Given the description of an element on the screen output the (x, y) to click on. 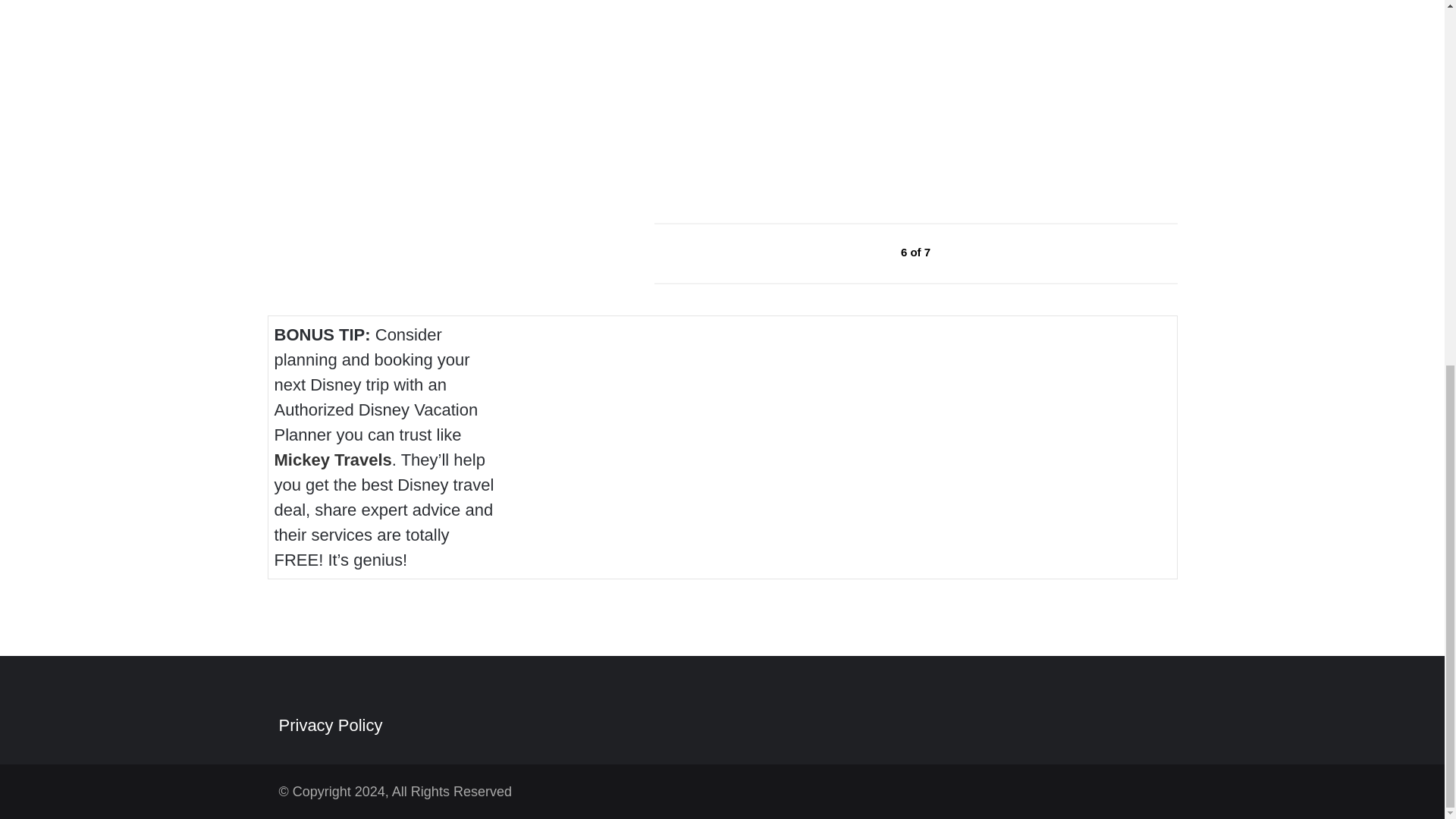
Mickey Travels (333, 459)
Left (866, 252)
Privacy Policy (330, 724)
right (966, 252)
